Given the description of an element on the screen output the (x, y) to click on. 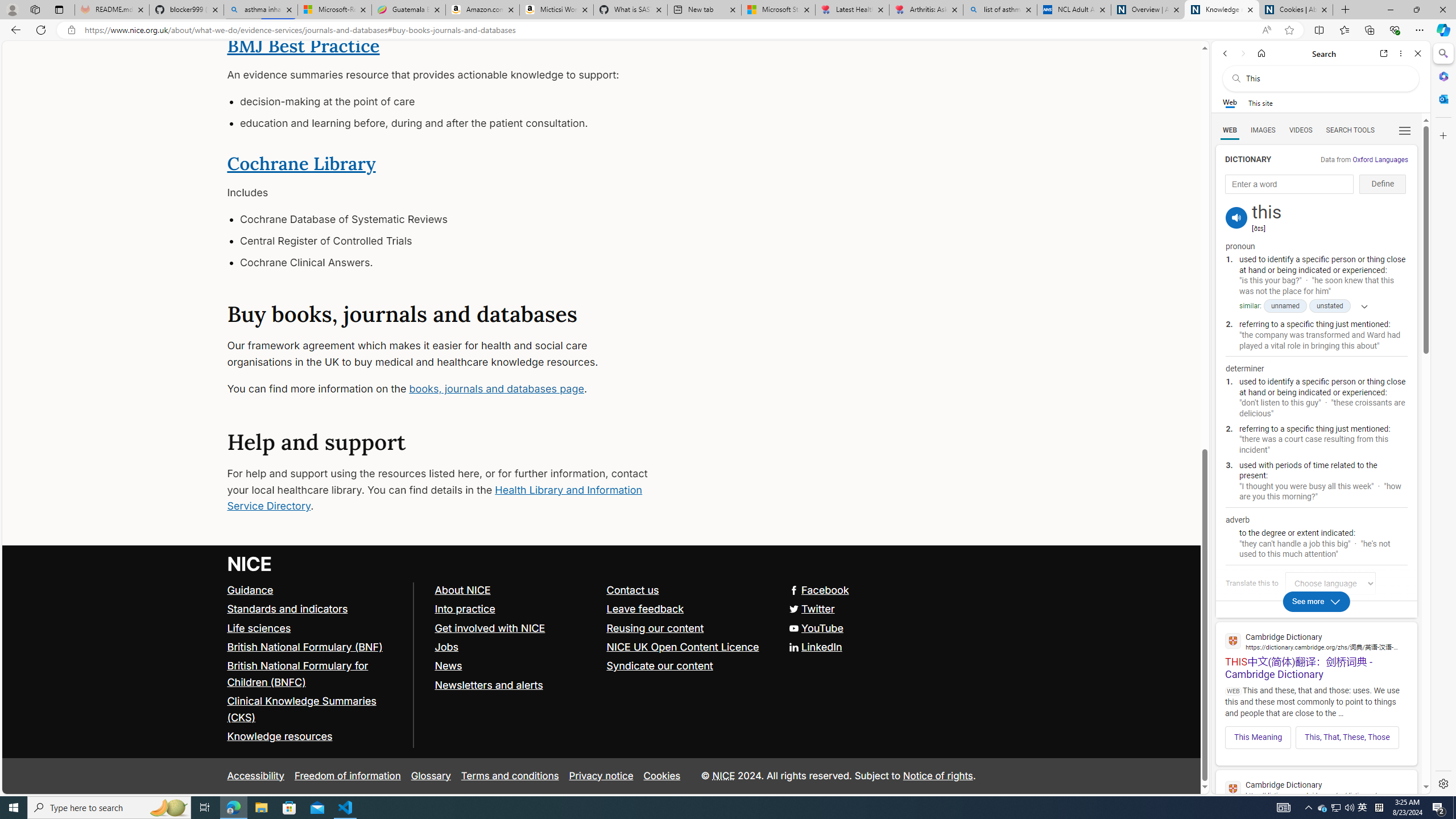
Get involved with NICE (489, 627)
Notice of rights (937, 775)
Preferences (1403, 129)
SEARCH TOOLS (1350, 130)
Jobs (445, 647)
NCL Adult Asthma Inhaler Choice Guideline (1073, 9)
This, That, These, Those (1347, 737)
Open link in new tab (1383, 53)
Contact us (686, 590)
Microsoft-Report a Concern to Bing (334, 9)
decision-making at the point of care (446, 102)
Guidance (315, 590)
Cochrane Database of Systematic Reviews (446, 219)
